Given the description of an element on the screen output the (x, y) to click on. 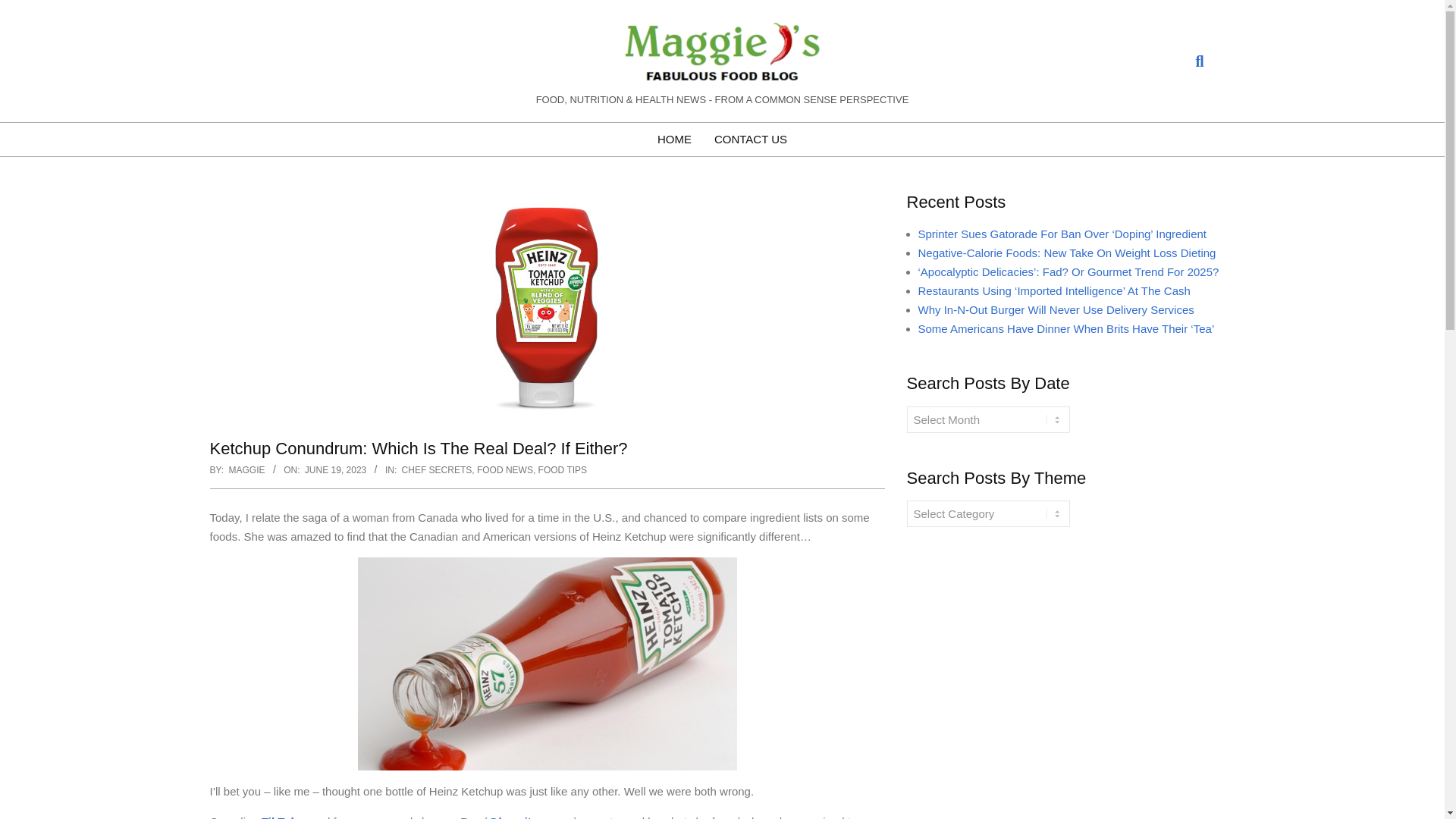
HOME (674, 139)
MAGGIE (246, 470)
Search (24, 8)
CONTACT US (750, 139)
Why In-N-Out Burger Will Never Use Delivery Services (1055, 309)
FOOD TIPS (562, 470)
Posts by Maggie (246, 470)
Monday, June 19, 2023, 5:00 am (335, 470)
FOOD NEWS (504, 470)
CHEF SECRETS (436, 470)
Negative-Calorie Foods: New Take On Weight Loss Dieting (1066, 252)
TikToker (284, 816)
